Given the description of an element on the screen output the (x, y) to click on. 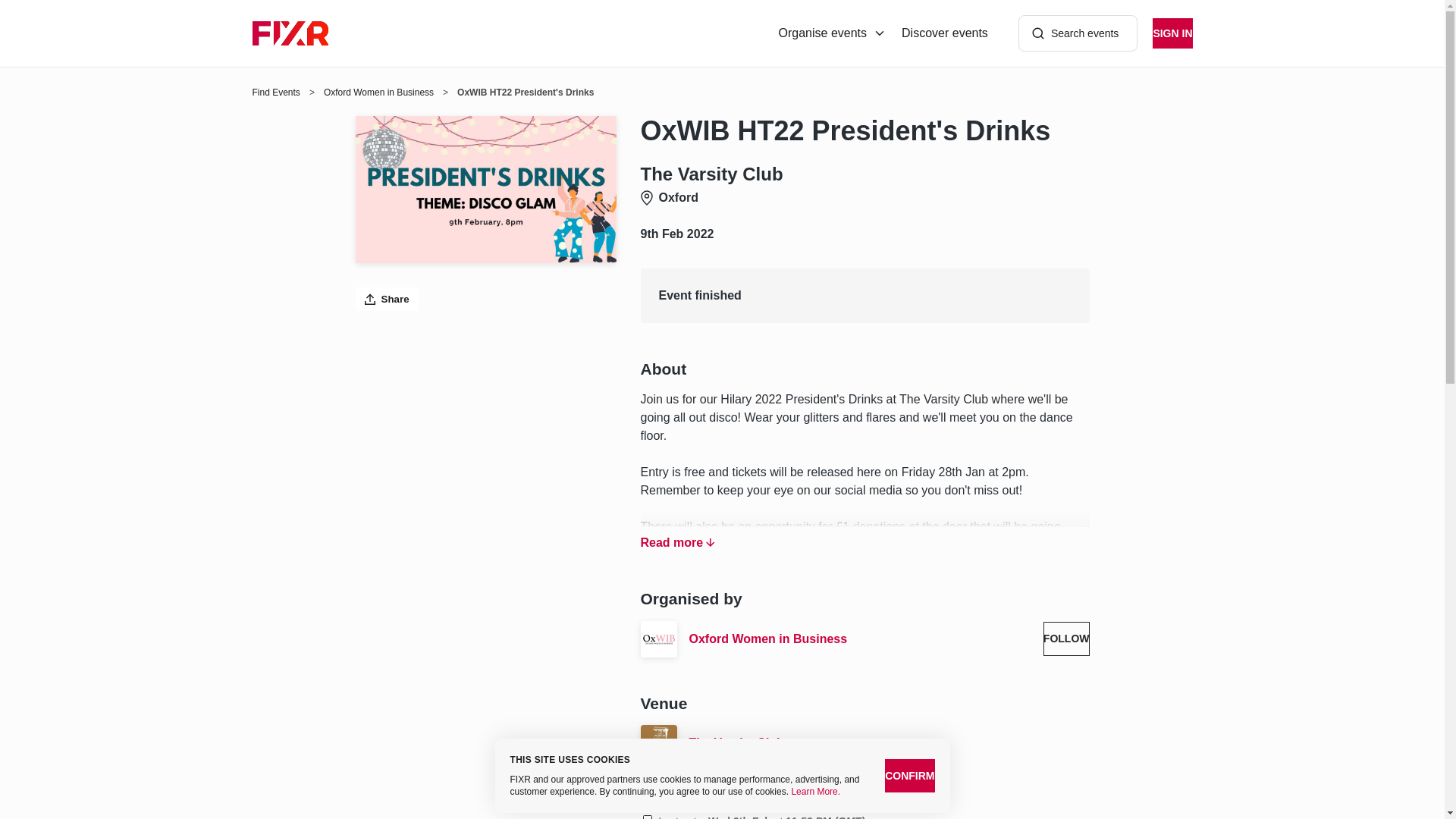
Oxford Women in Business (378, 92)
OxWIB HT22 President's Drinks (864, 131)
Share (386, 298)
SIGN IN (1172, 33)
Read more (677, 542)
Discover events (944, 33)
Search events (1077, 33)
Organise events (832, 33)
Find Events (275, 92)
FOLLOW (1066, 638)
Oxford Women in Business (859, 638)
The Varsity Club (888, 742)
